Given the description of an element on the screen output the (x, y) to click on. 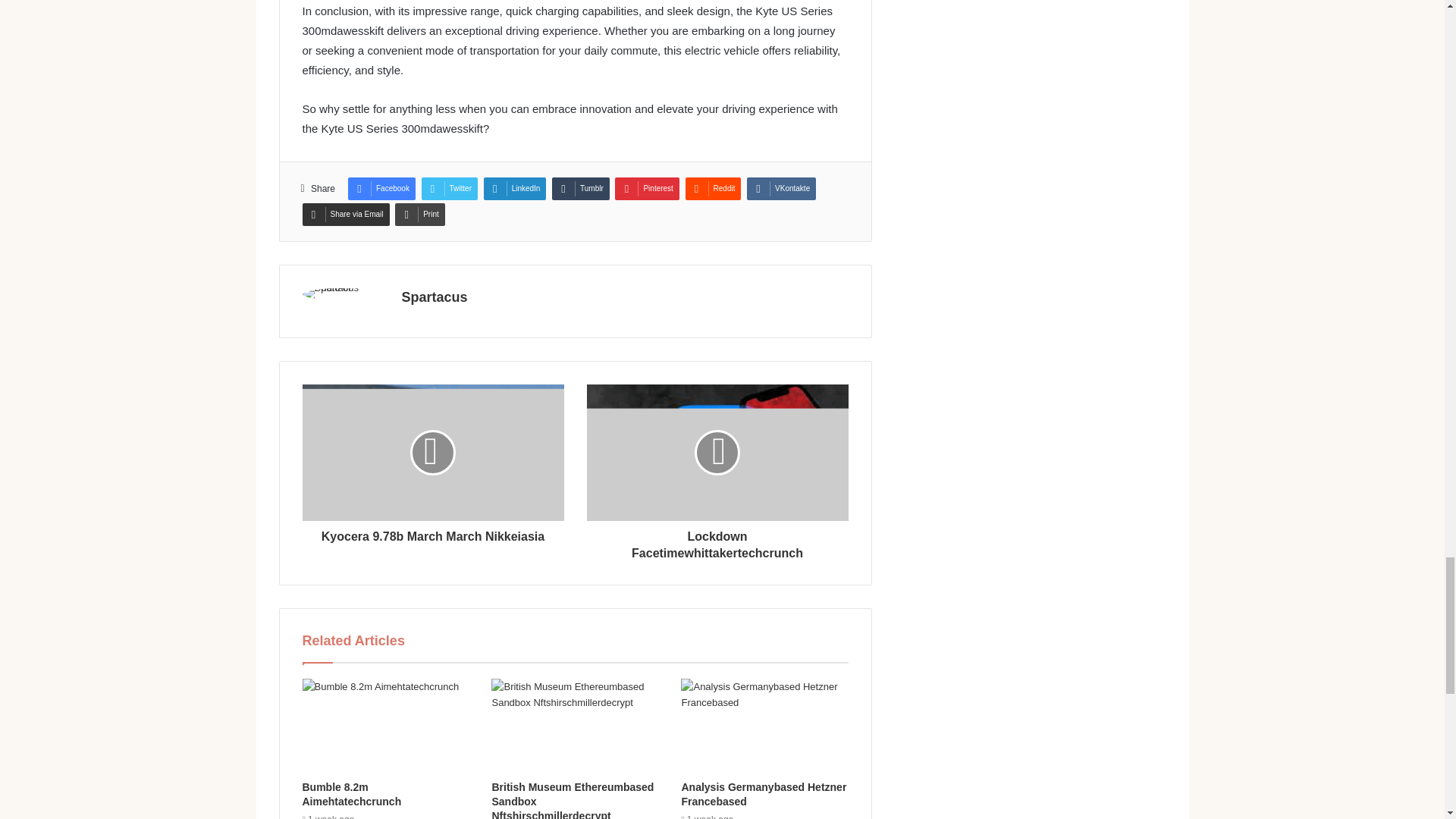
Tumblr (580, 188)
Spartacus (434, 296)
Twitter (449, 188)
VKontakte (780, 188)
Tumblr (580, 188)
Pinterest (646, 188)
Facebook (380, 188)
Print (419, 214)
Share via Email (344, 214)
LinkedIn (515, 188)
